Given the description of an element on the screen output the (x, y) to click on. 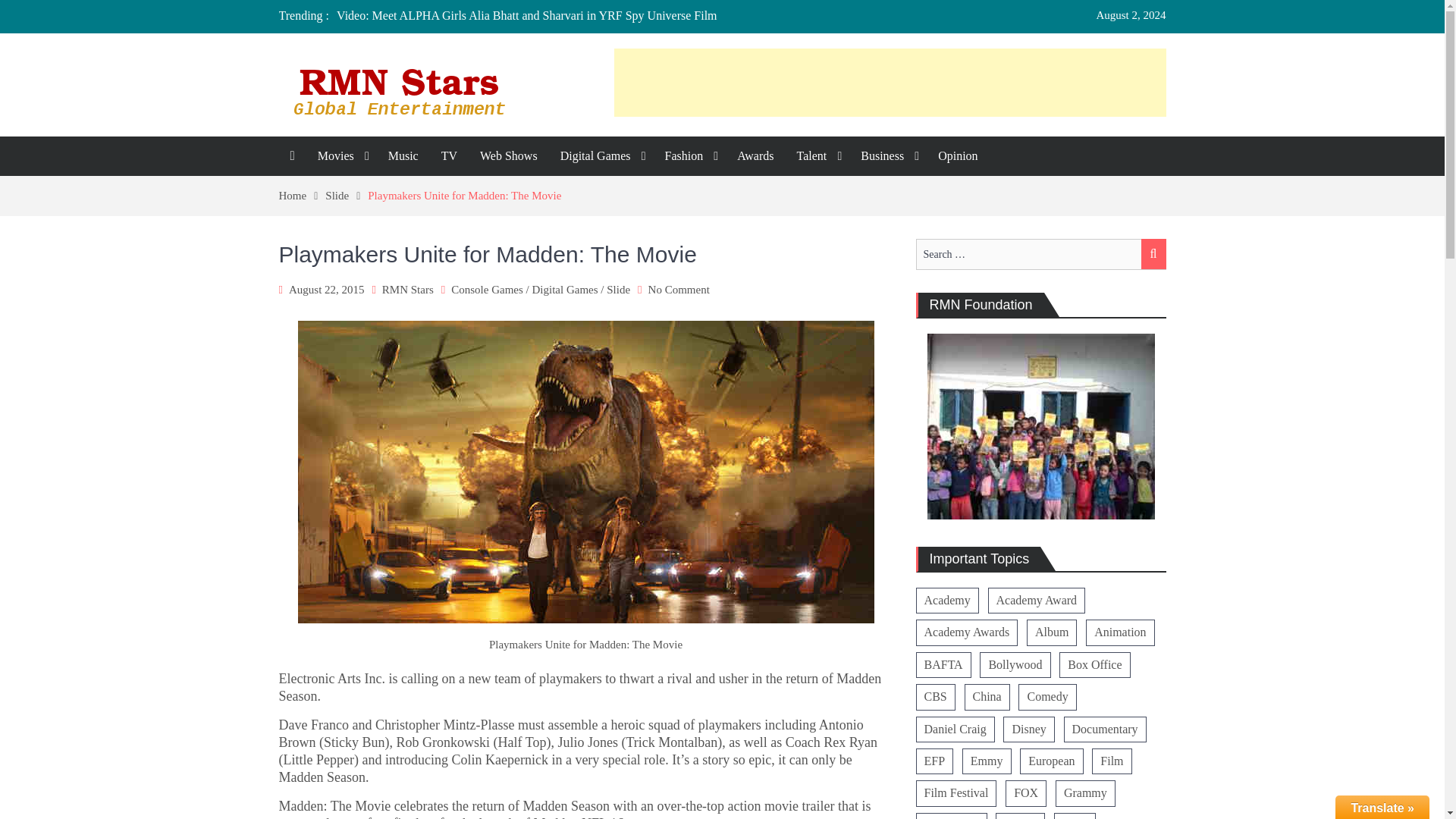
36 topics (1120, 632)
August 22, 2015 (326, 289)
Talent (818, 156)
33 topics (954, 729)
86 topics (1037, 600)
201 topics (946, 600)
Slide (618, 289)
83 topics (966, 632)
Music (403, 156)
56 topics (943, 664)
55 topics (1105, 729)
Digital Games (563, 289)
Digital Games (600, 156)
46 topics (986, 696)
